Given the description of an element on the screen output the (x, y) to click on. 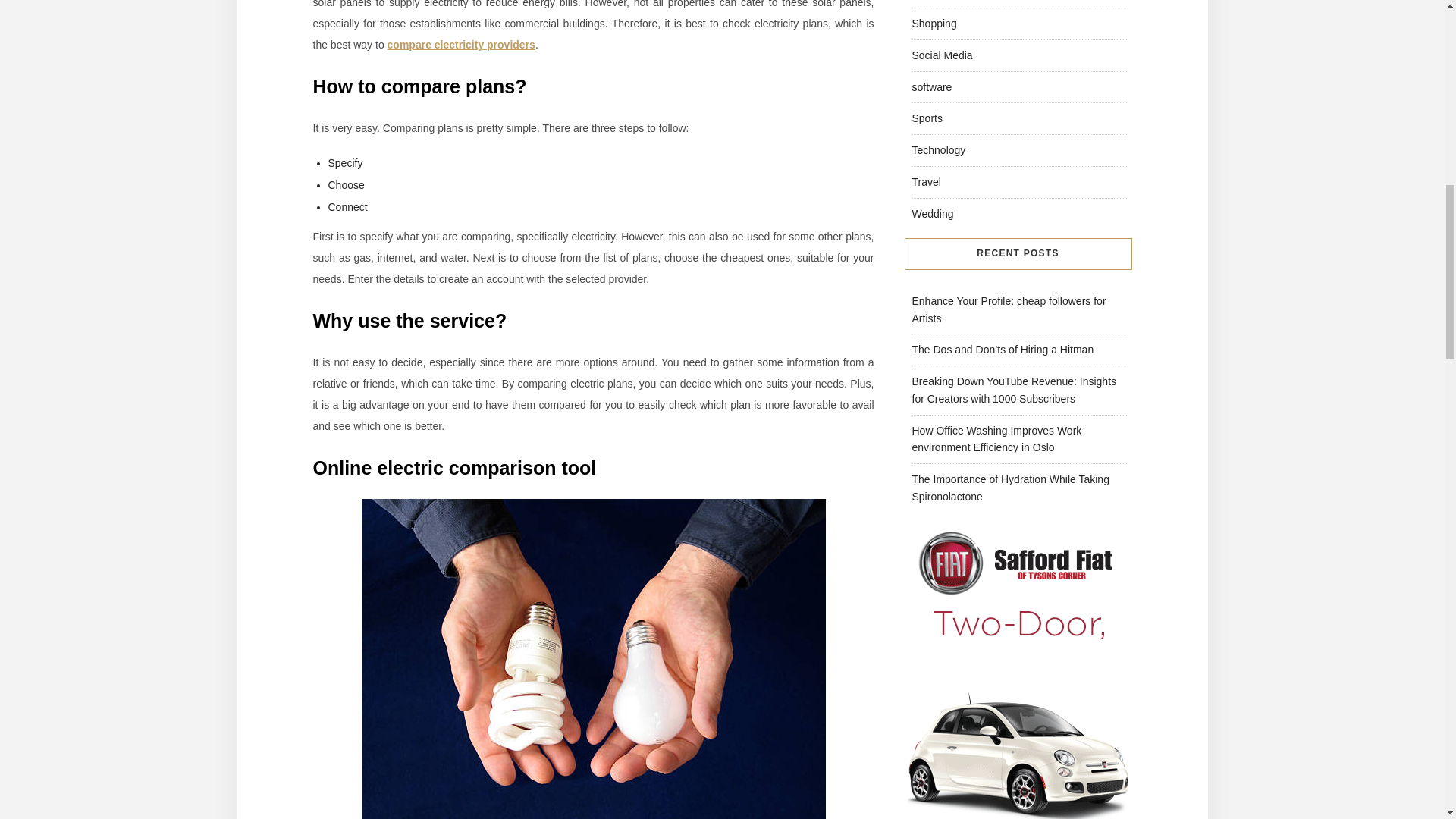
Social Media (941, 55)
software (931, 86)
compare electricity providers (461, 44)
Shopping (933, 23)
Technology (938, 150)
Sports (926, 118)
